Given the description of an element on the screen output the (x, y) to click on. 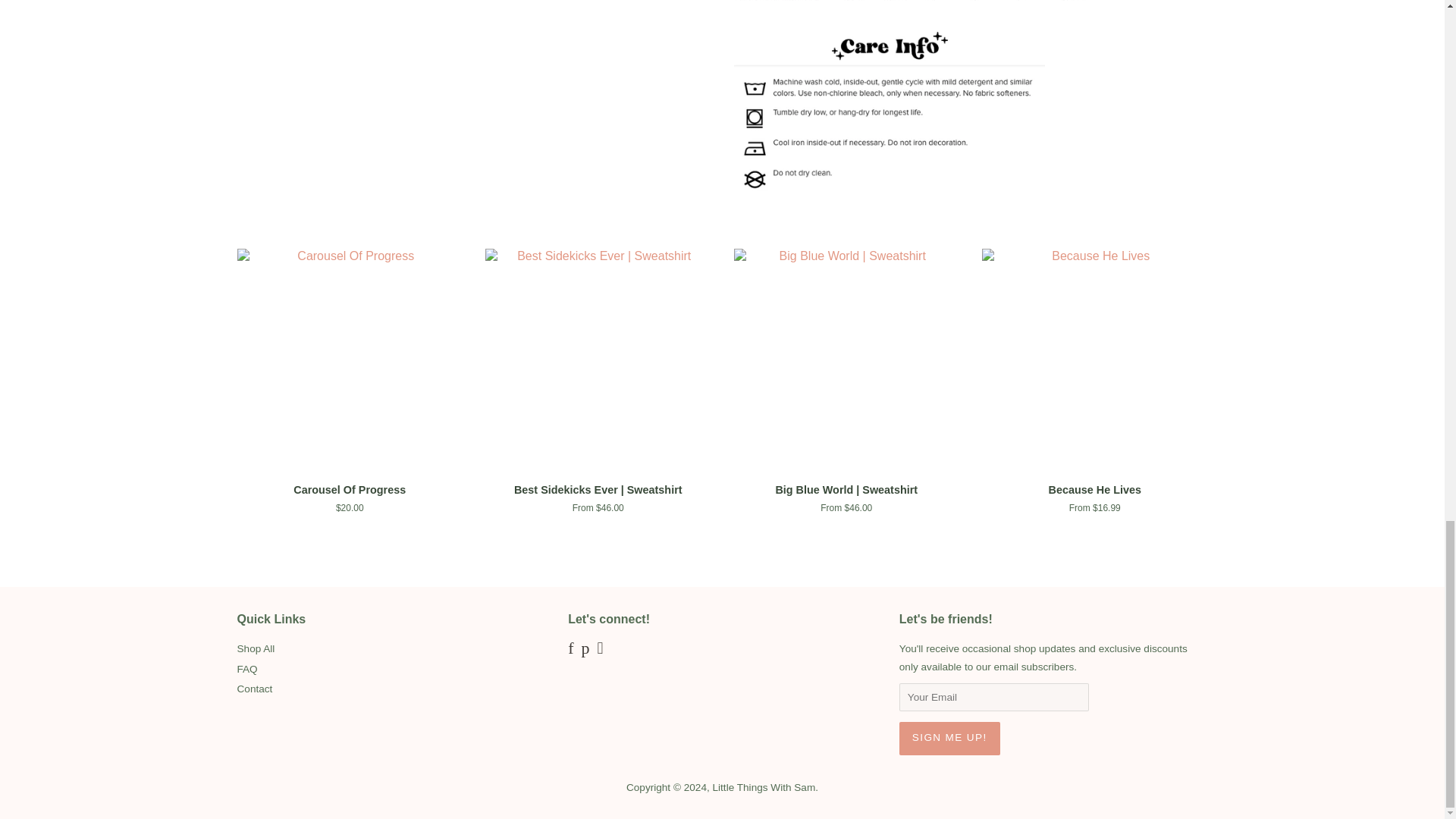
Sign me up! (949, 738)
